Given the description of an element on the screen output the (x, y) to click on. 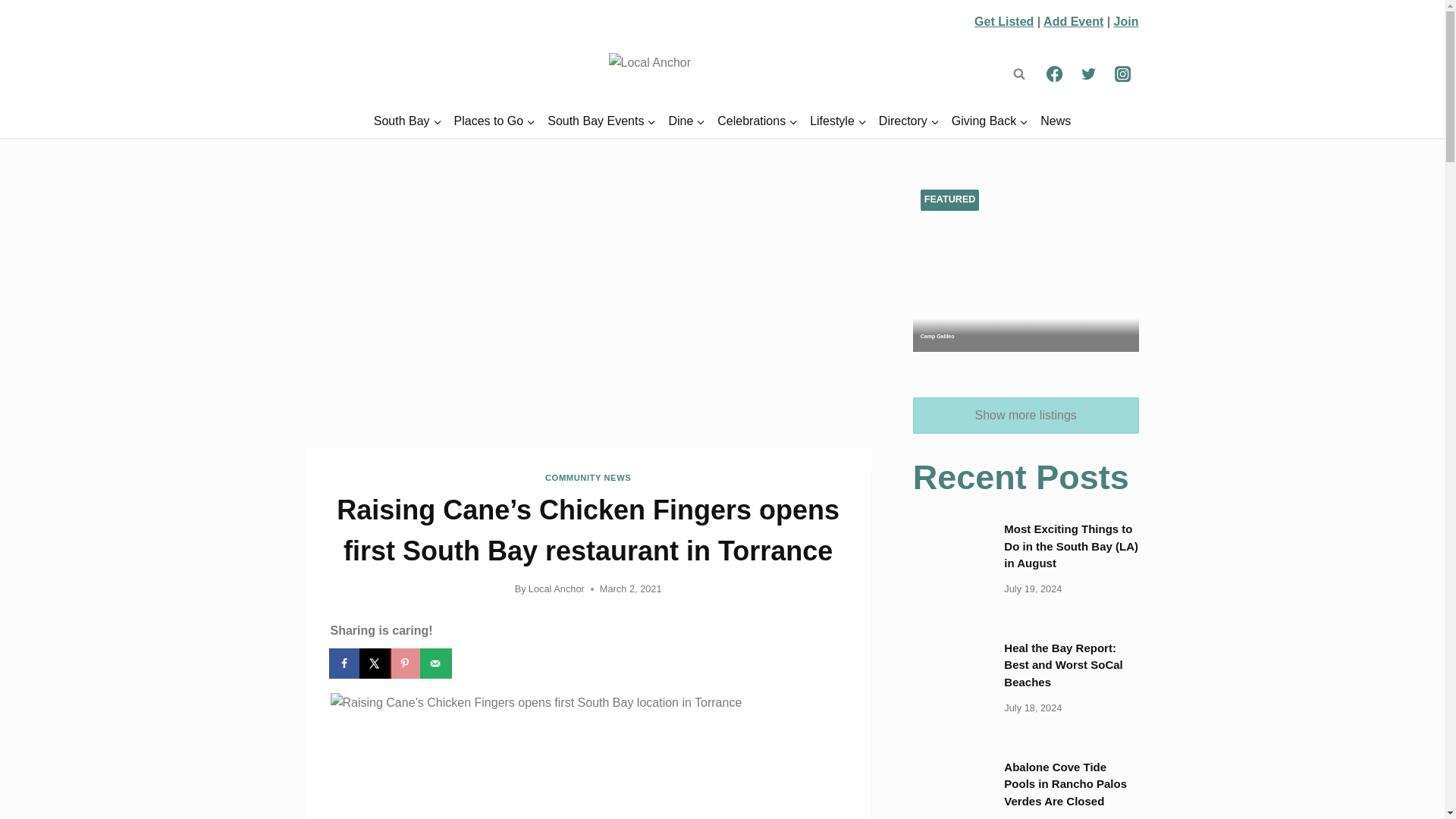
Save to Pinterest (406, 663)
Join (1125, 21)
Send over email (436, 663)
Get Listed (1003, 21)
South Bay Events (601, 121)
Share on Facebook (345, 663)
Add Event (1073, 21)
Dine (686, 121)
Celebrations (757, 121)
Places to Go (494, 121)
Share on X (376, 663)
South Bay (408, 121)
